Given the description of an element on the screen output the (x, y) to click on. 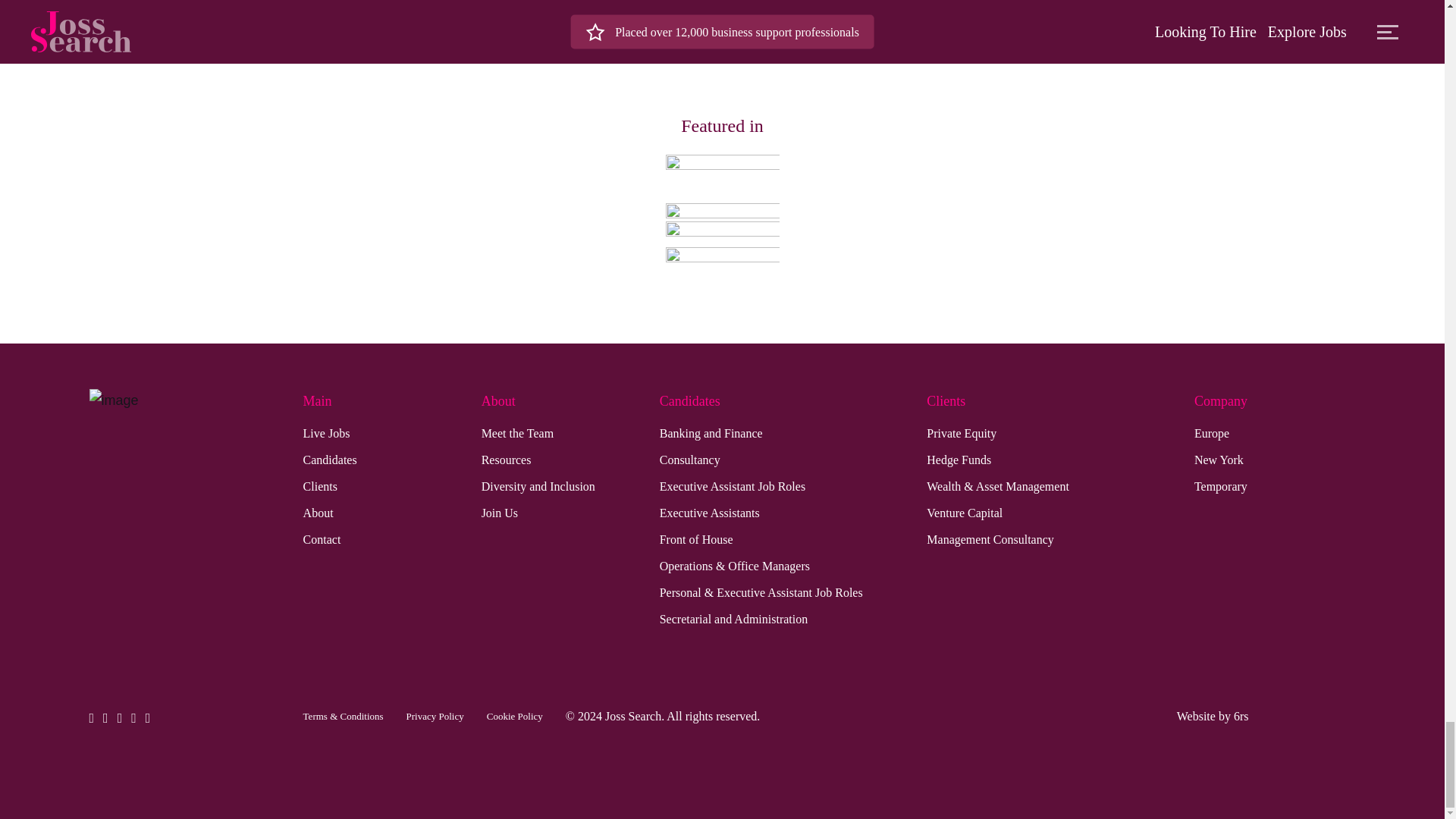
Clients (319, 486)
About (317, 513)
Candidates (329, 460)
Live Jobs (326, 433)
